Given the description of an element on the screen output the (x, y) to click on. 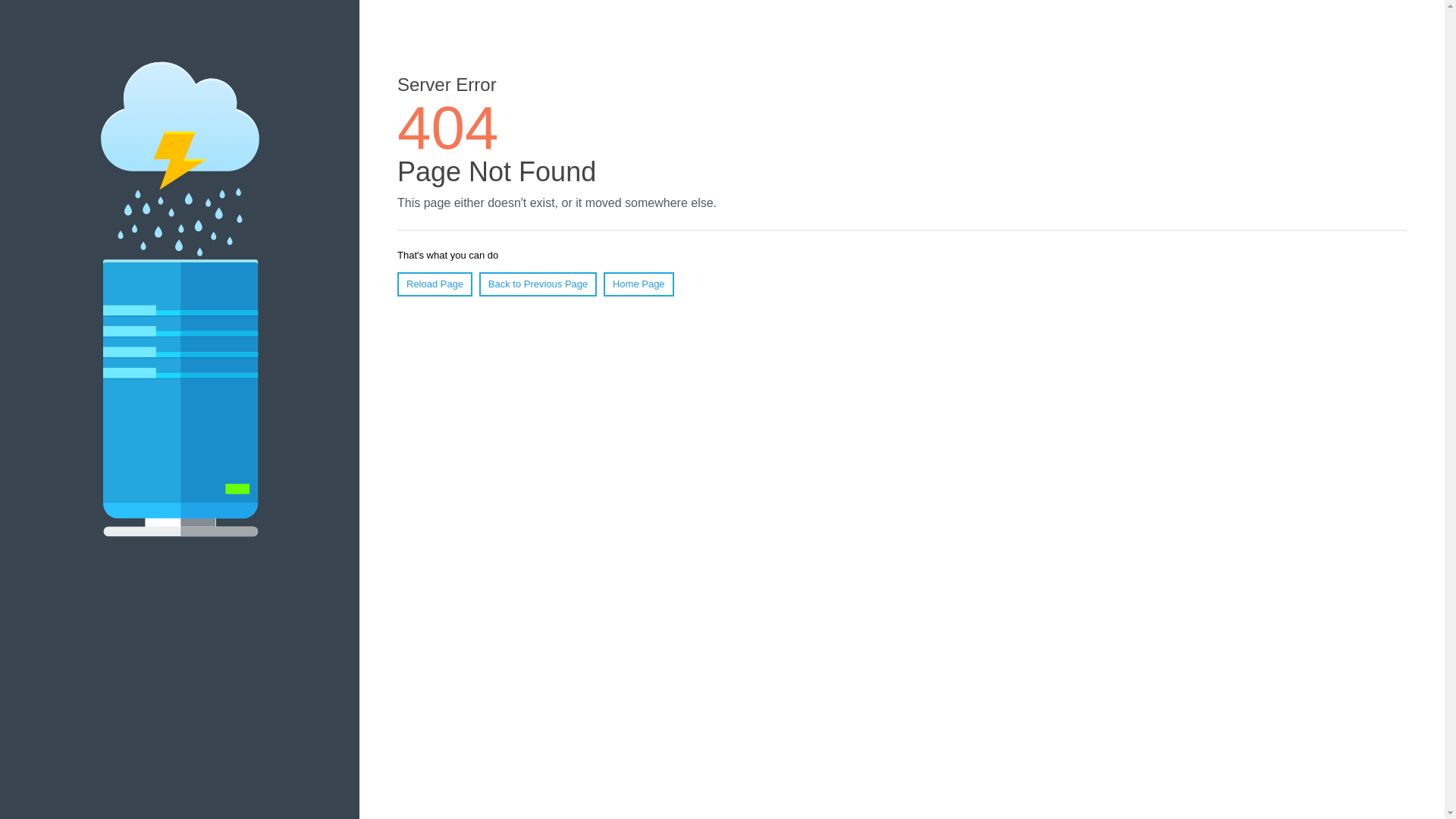
Reload Page Element type: text (434, 284)
Home Page Element type: text (638, 284)
Back to Previous Page Element type: text (538, 284)
